Given the description of an element on the screen output the (x, y) to click on. 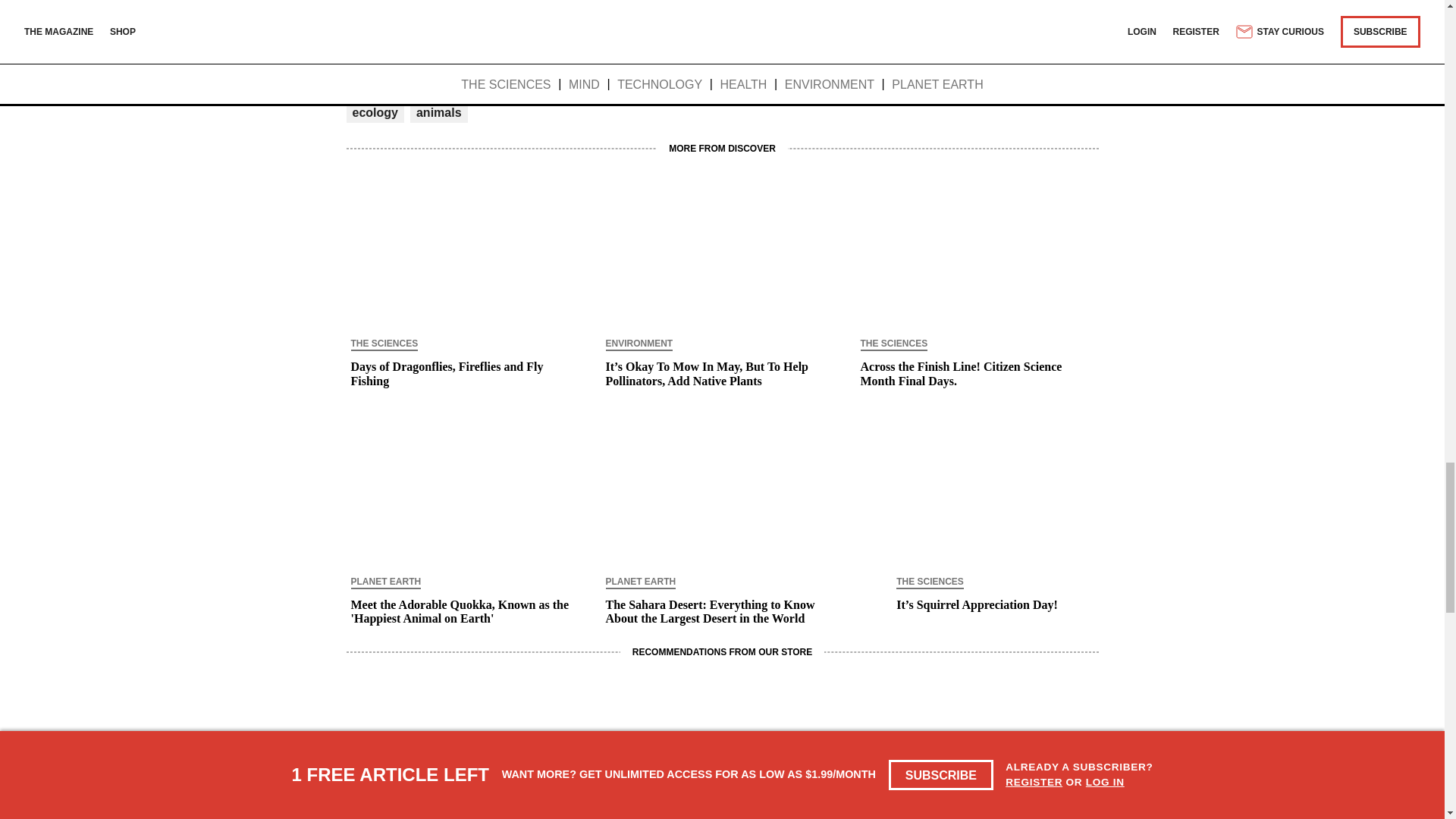
ecology (374, 112)
animals (438, 112)
THE SCIENCES (383, 345)
